Given the description of an element on the screen output the (x, y) to click on. 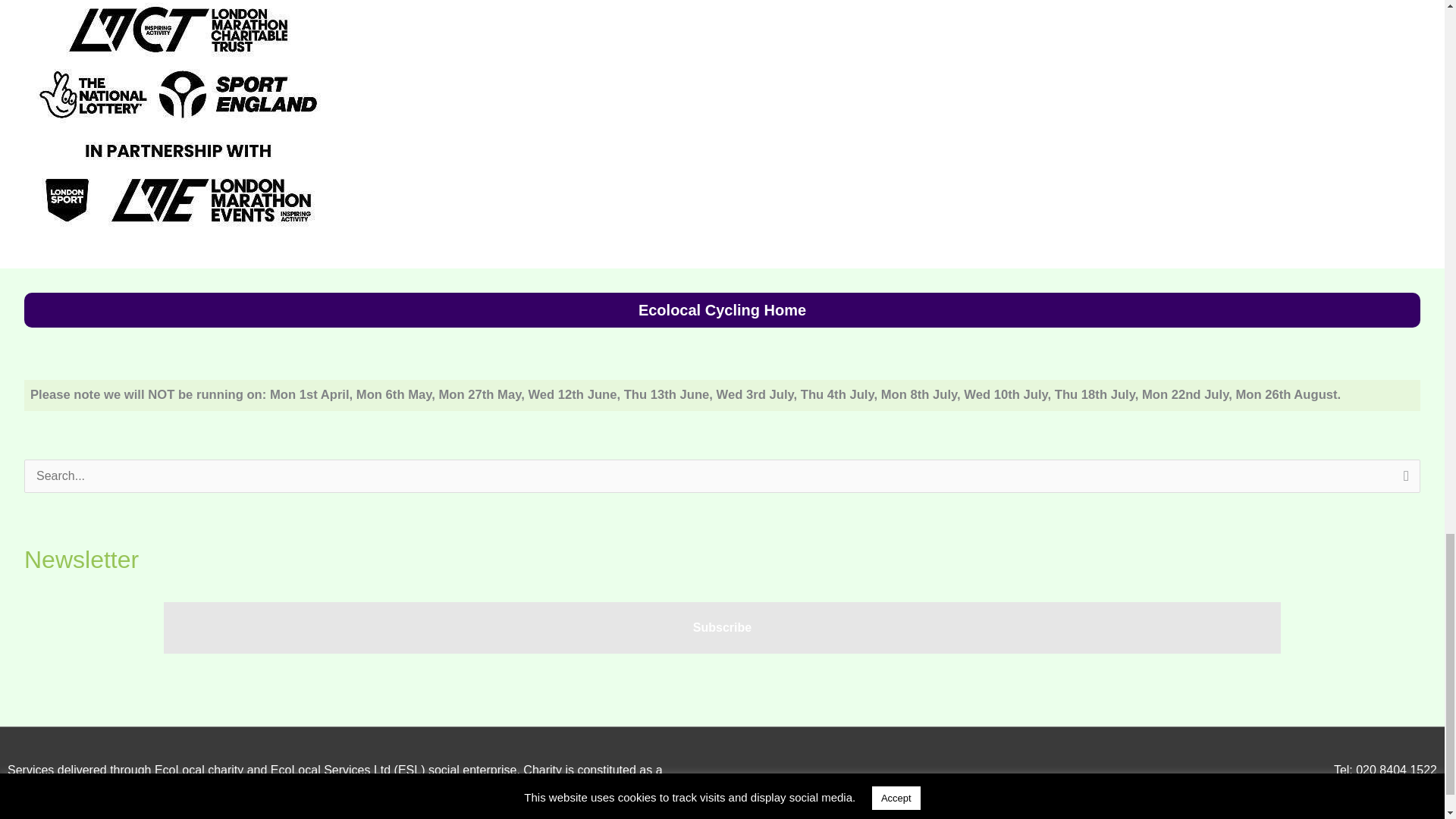
Subscribe (722, 627)
Privacy Statement (1387, 814)
Ecolocal Cycling Home (722, 309)
